Given the description of an element on the screen output the (x, y) to click on. 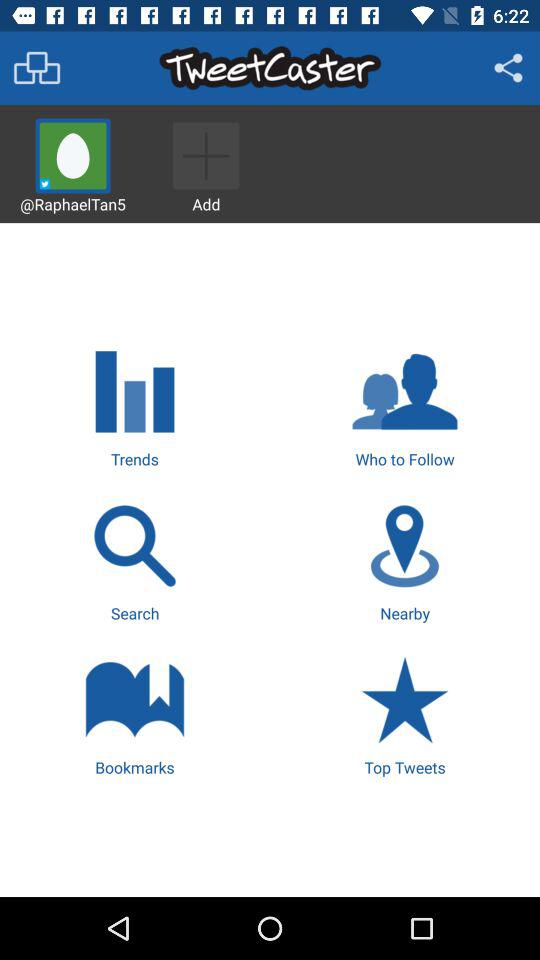
flip until the top tweets (404, 714)
